Given the description of an element on the screen output the (x, y) to click on. 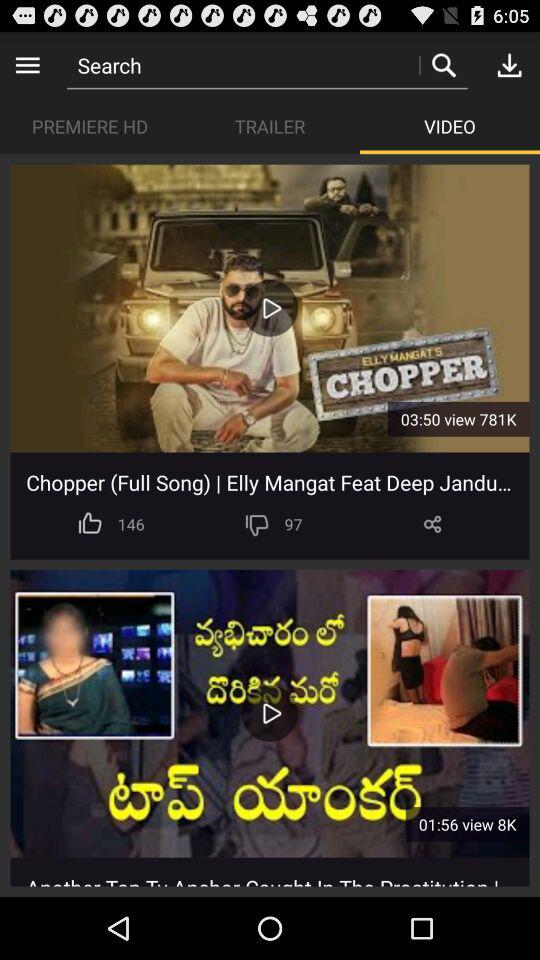
tap to like (89, 523)
